Given the description of an element on the screen output the (x, y) to click on. 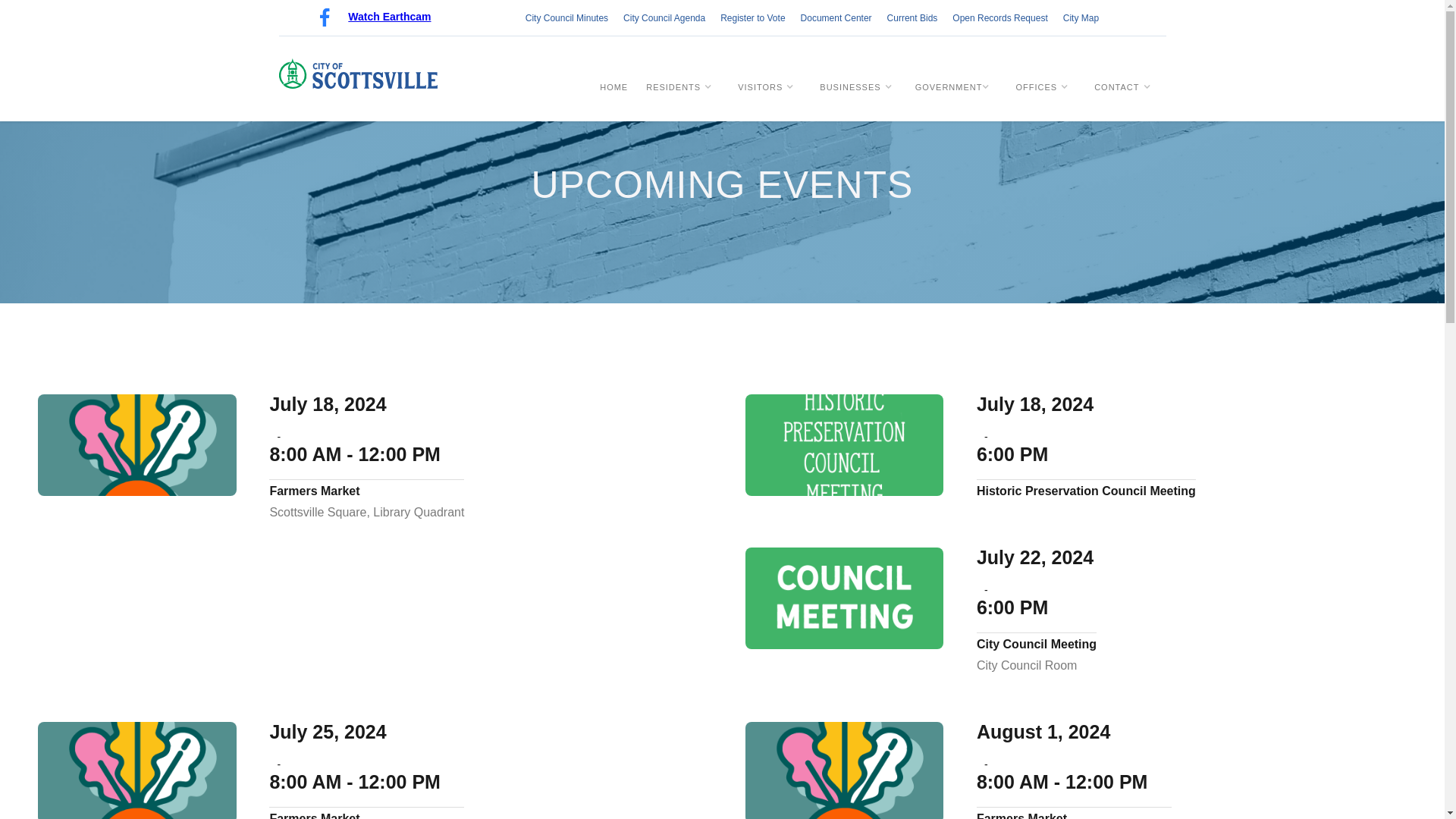
Register to Vote (752, 17)
City Map (1080, 17)
City Council Minutes (563, 17)
City Council Agenda (663, 17)
Document Center (836, 17)
Current Bids (911, 17)
Watch Earthcam (388, 16)
Open Records Request (999, 17)
